Given the description of an element on the screen output the (x, y) to click on. 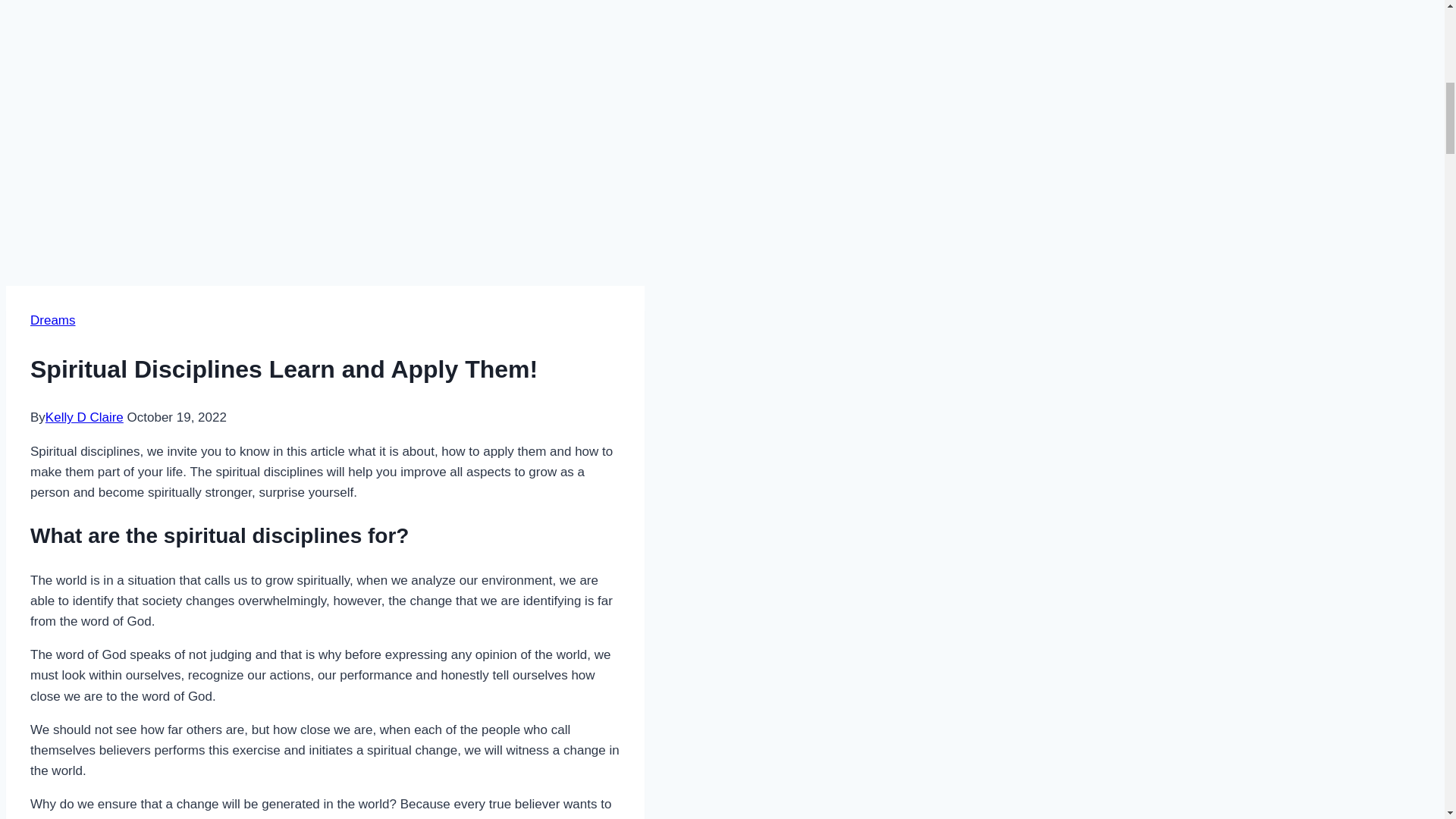
Dreams (52, 319)
Kelly D Claire (84, 417)
